Given the description of an element on the screen output the (x, y) to click on. 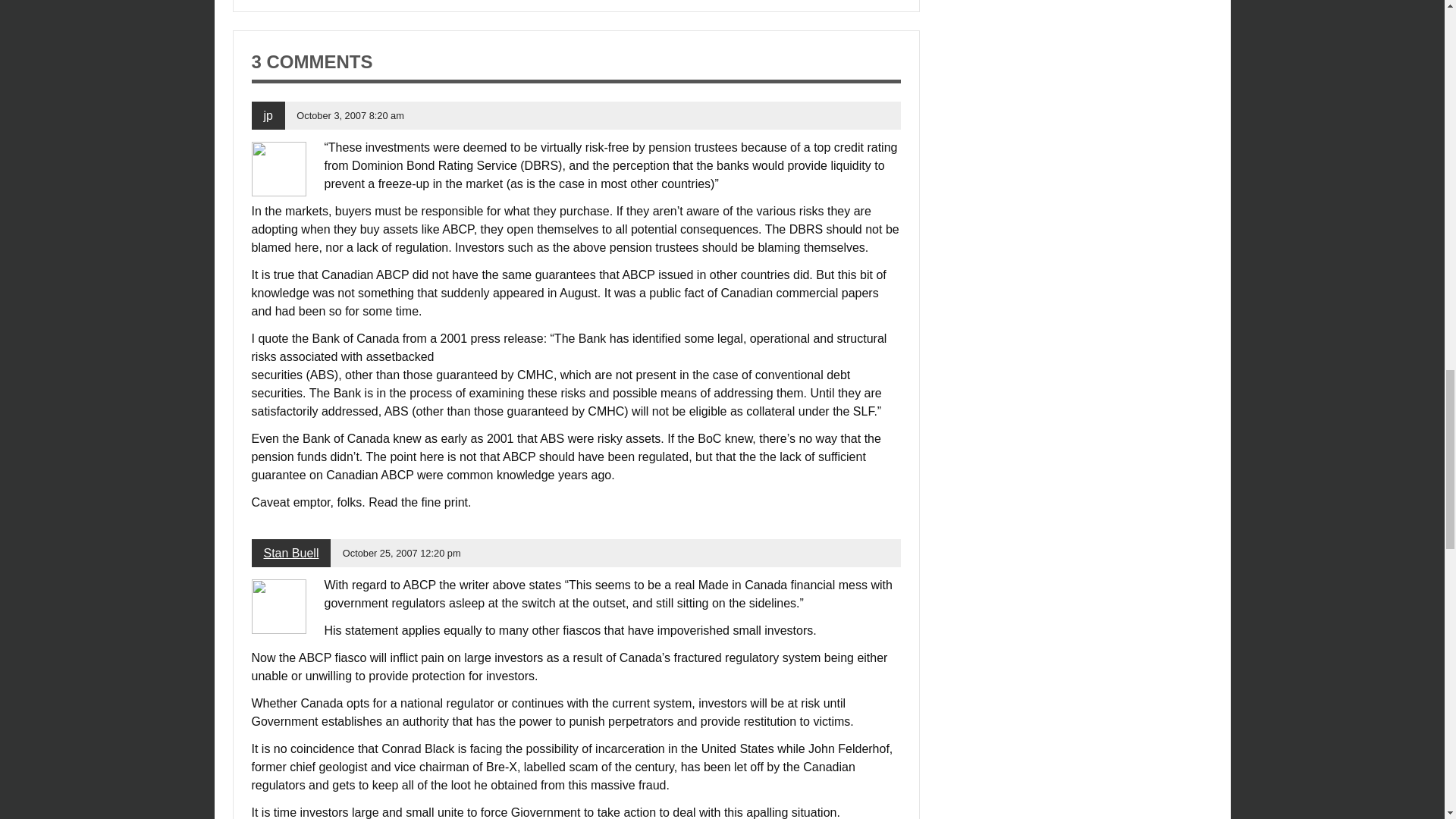
Stan Buell (290, 553)
October 3, 2007 8:20 am (350, 115)
October 25, 2007 12:20 pm (401, 552)
